Given the description of an element on the screen output the (x, y) to click on. 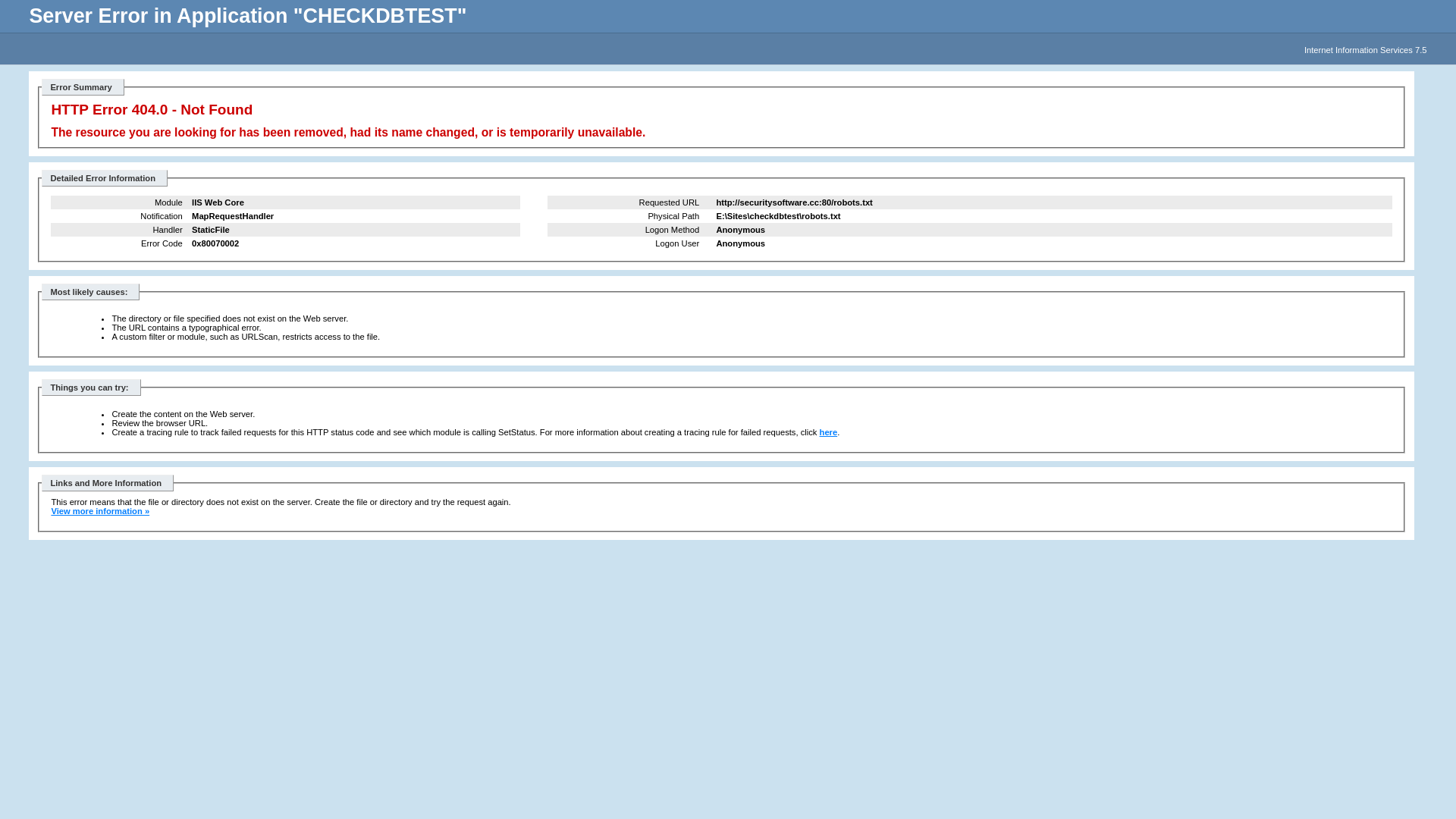
here Element type: text (828, 431)
